Given the description of an element on the screen output the (x, y) to click on. 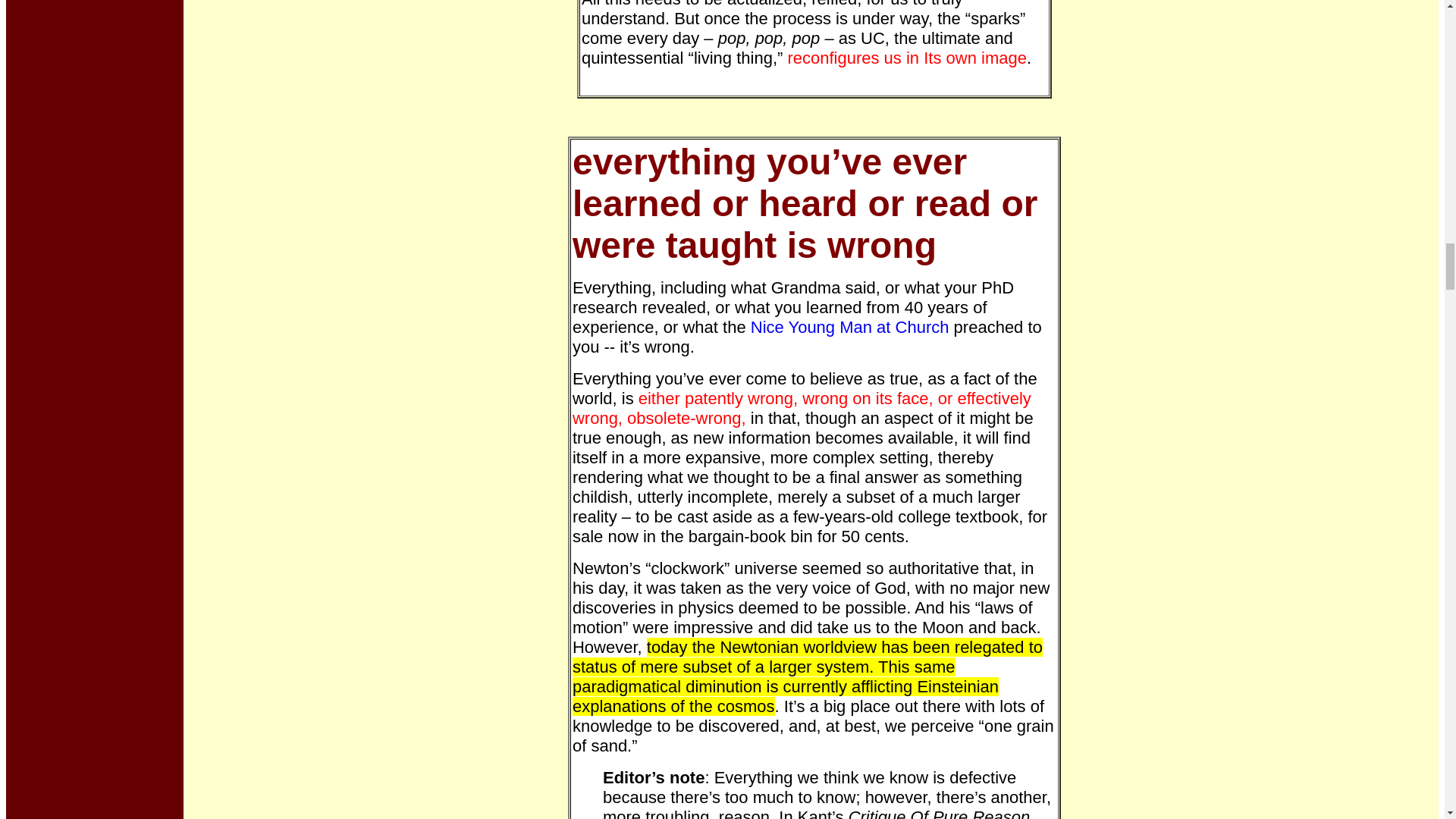
Nice Young Man at Church (850, 326)
